Given the description of an element on the screen output the (x, y) to click on. 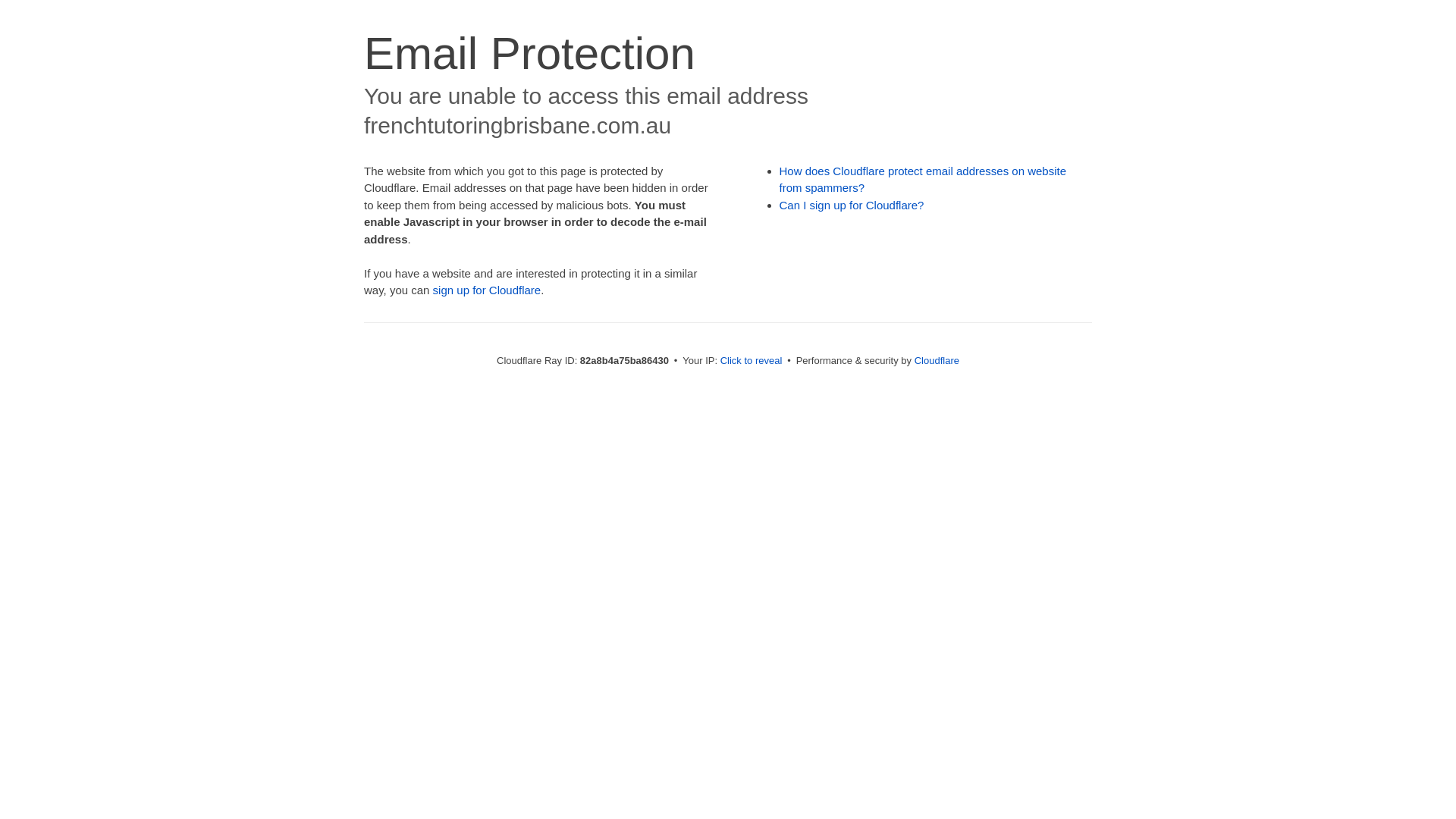
Click to reveal Element type: text (751, 360)
Can I sign up for Cloudflare? Element type: text (851, 204)
Cloudflare Element type: text (936, 360)
sign up for Cloudflare Element type: text (487, 289)
